Given the description of an element on the screen output the (x, y) to click on. 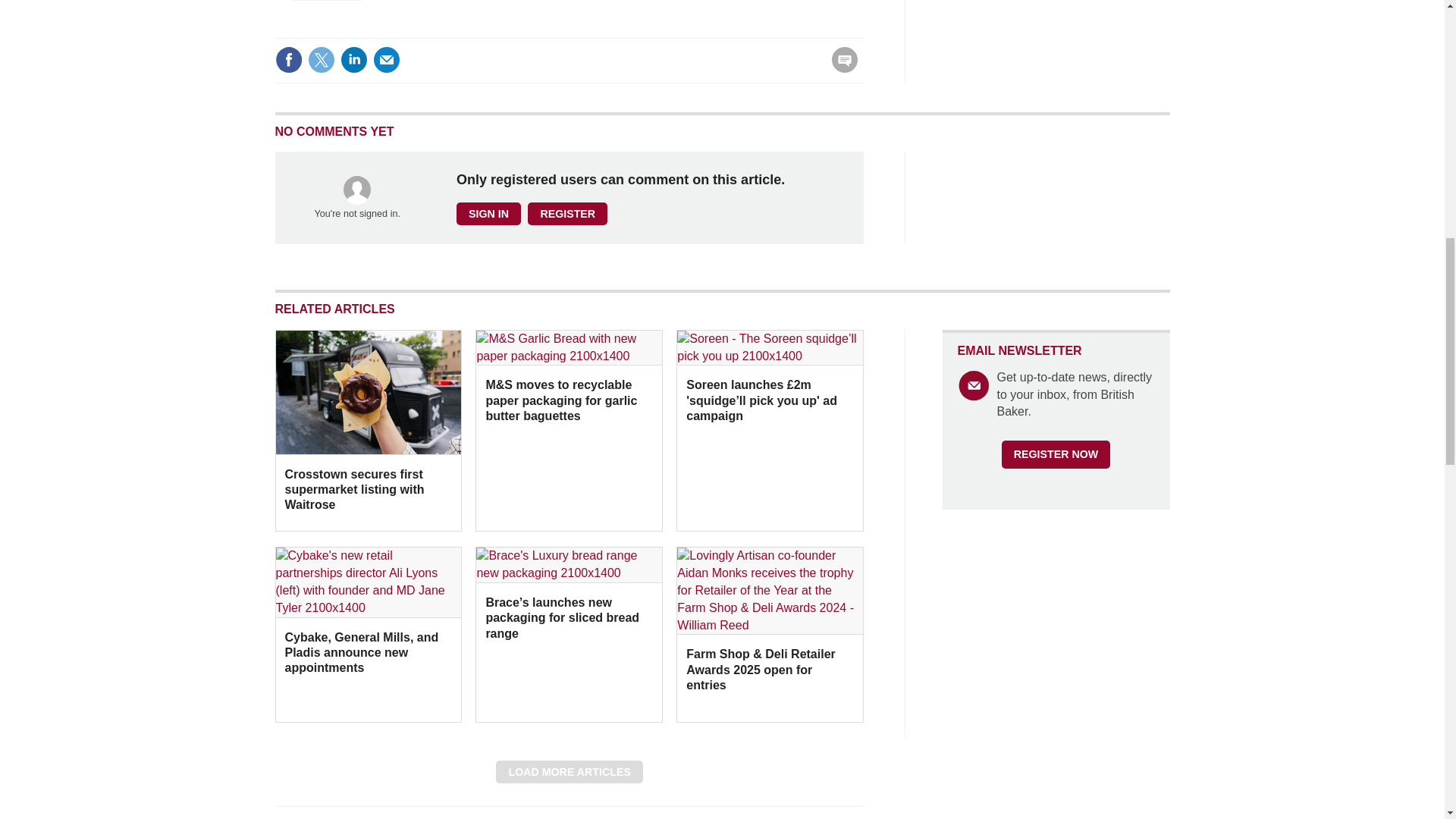
Share this on Twitter (320, 59)
No comments (840, 68)
Email this article (386, 59)
Share this on Facebook (288, 59)
Share this on Linked in (352, 59)
